Given the description of an element on the screen output the (x, y) to click on. 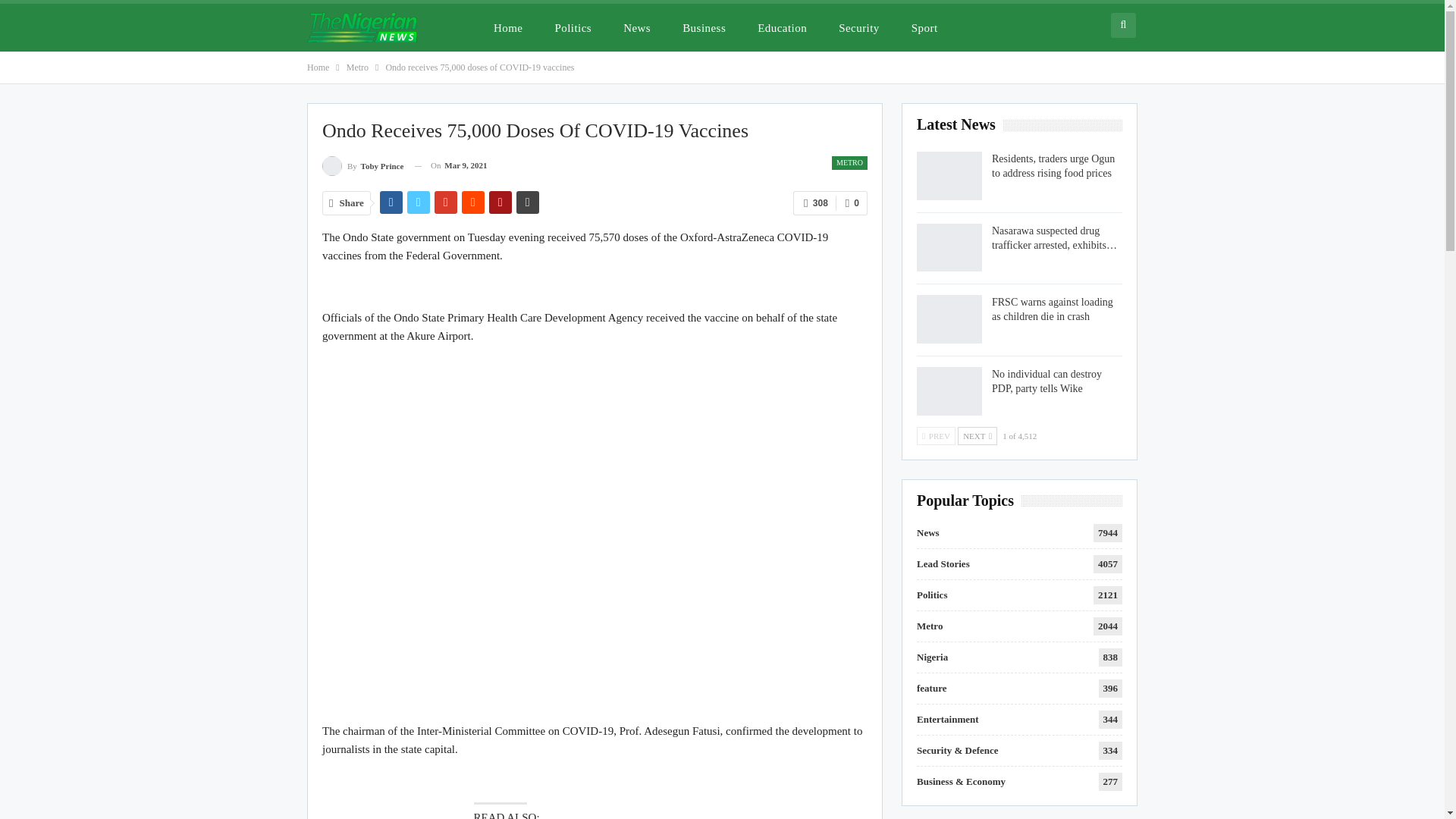
By Toby Prince (362, 165)
Education (781, 27)
Security (859, 27)
Business (703, 27)
News (636, 27)
Home (508, 27)
METRO (849, 162)
Metro (357, 67)
0 (851, 202)
Politics (572, 27)
